Given the description of an element on the screen output the (x, y) to click on. 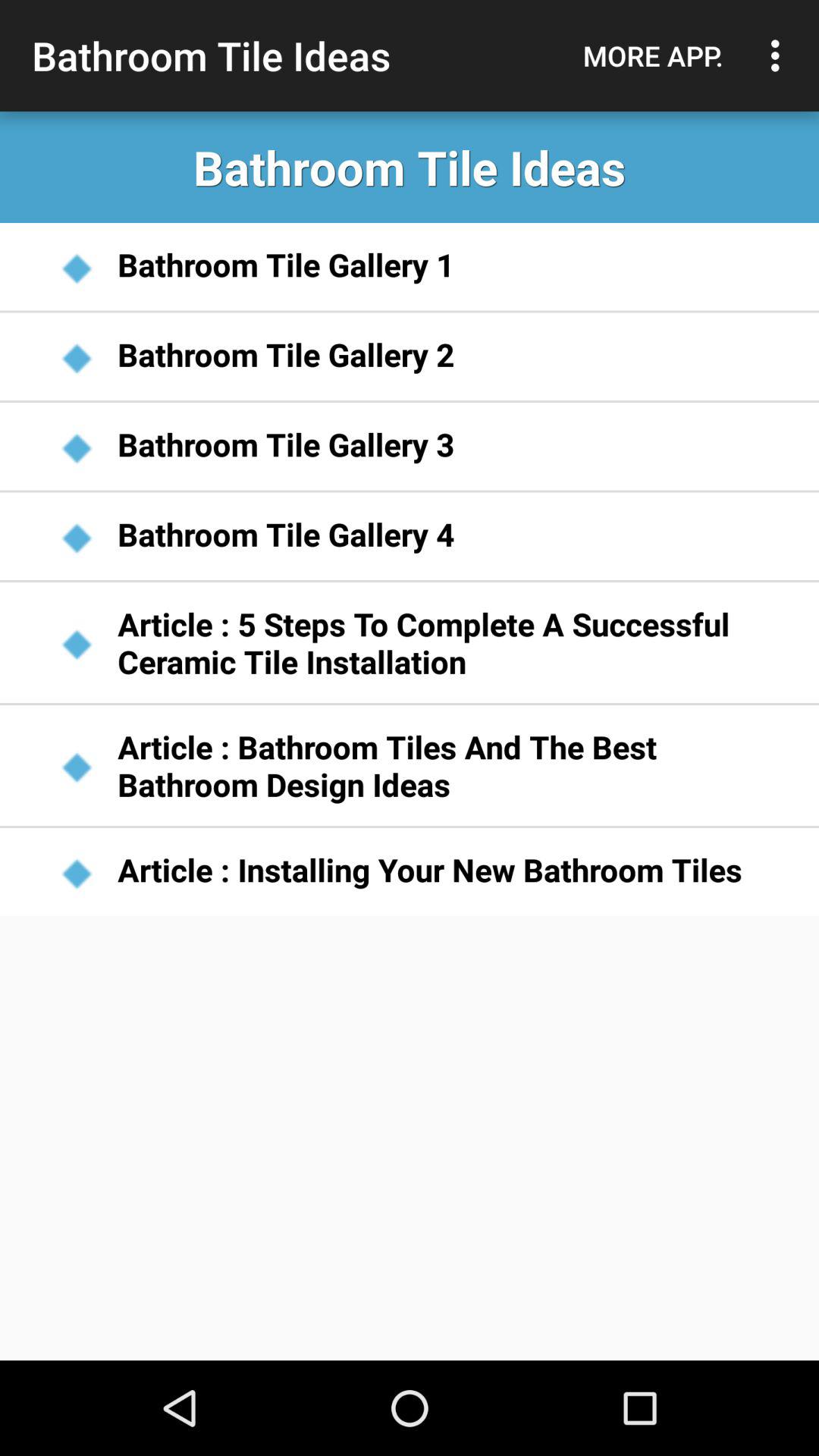
turn off the item above bathroom tile ideas app (653, 55)
